Given the description of an element on the screen output the (x, y) to click on. 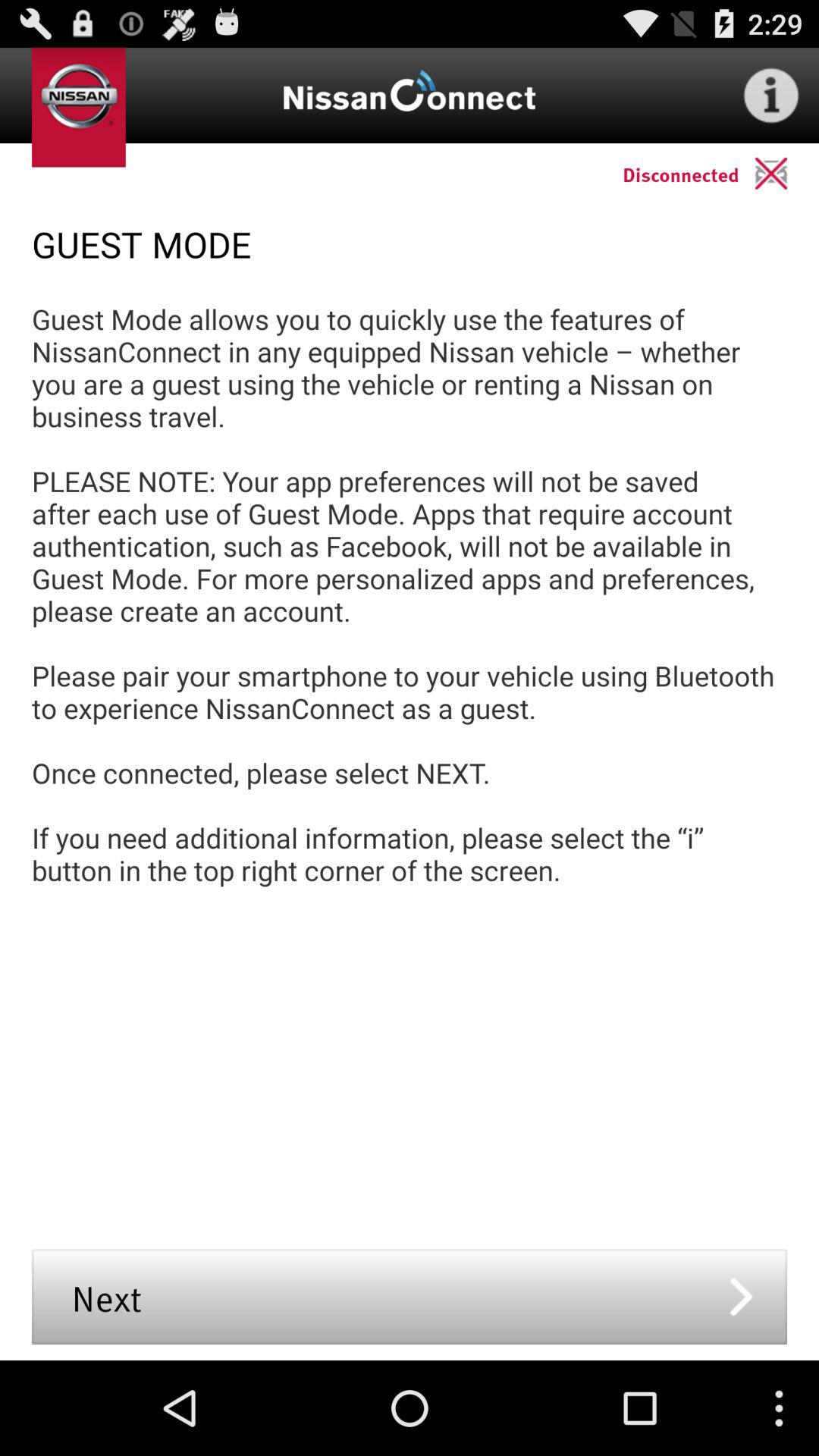
scroll until next button (409, 1296)
